Given the description of an element on the screen output the (x, y) to click on. 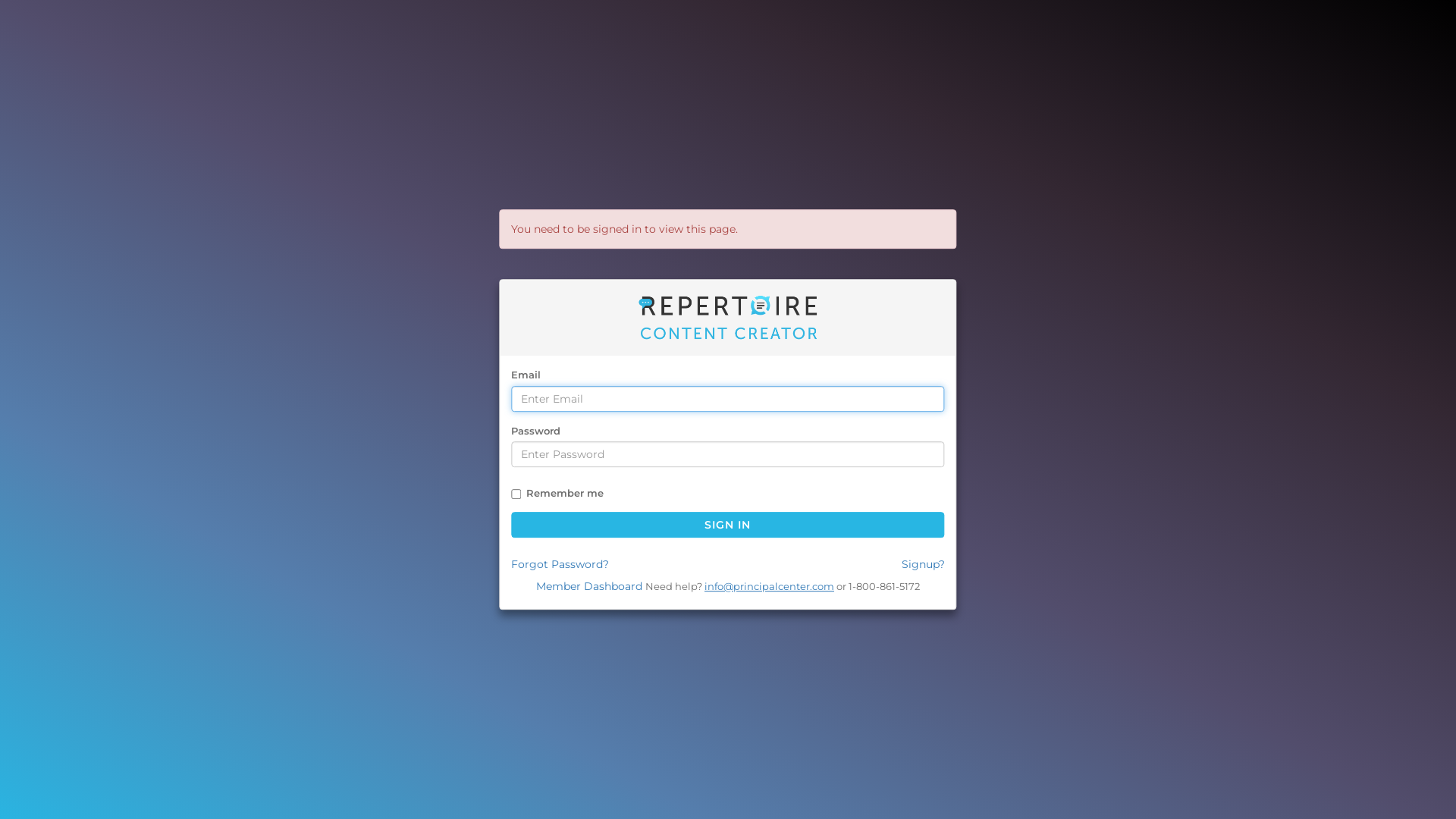
Member Dashboard Element type: text (589, 586)
SIGN IN Element type: text (727, 524)
info@principalcenter.com Element type: text (769, 586)
Forgot Password? Element type: text (559, 564)
Signup? Element type: text (922, 563)
